Given the description of an element on the screen output the (x, y) to click on. 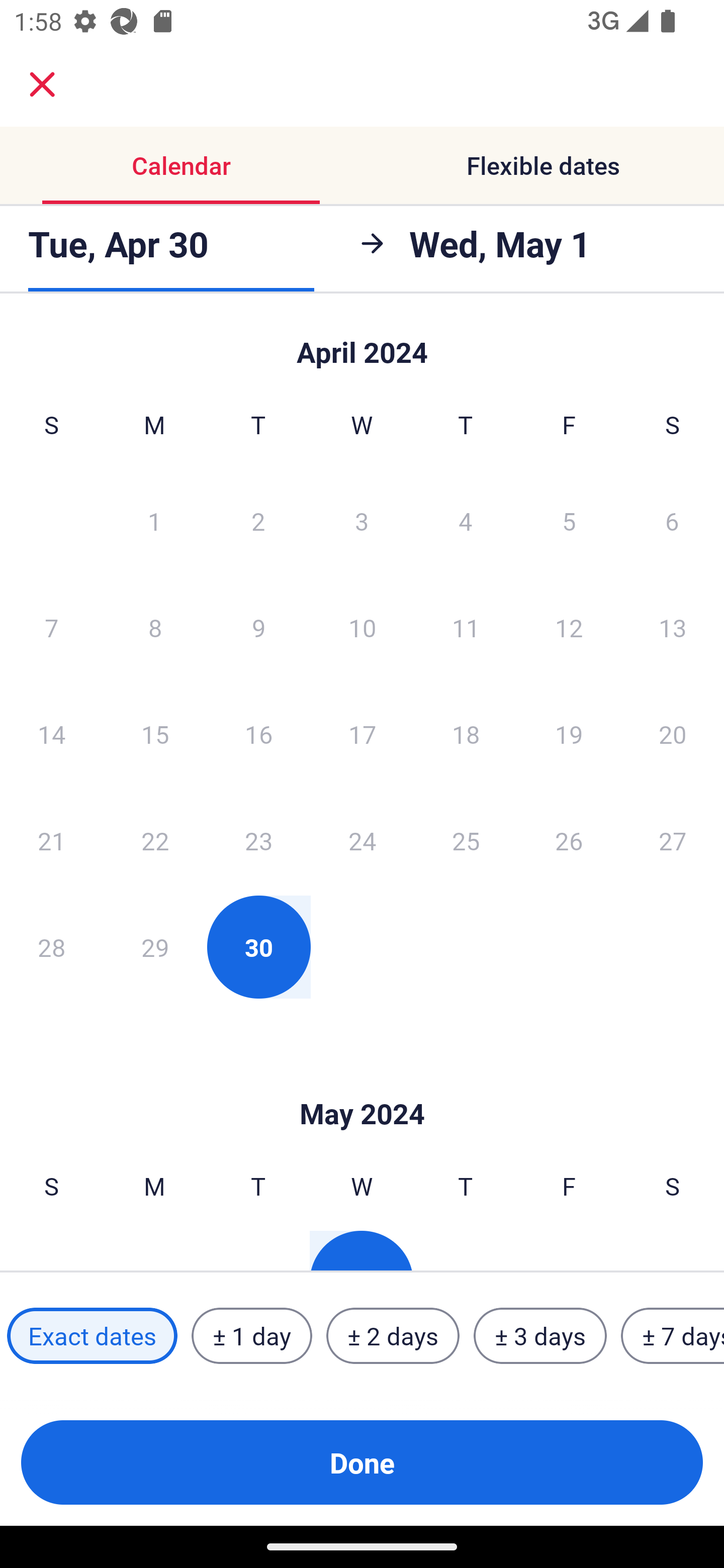
close. (42, 84)
Flexible dates (542, 164)
Skip to Done (362, 343)
1 Monday, April 1, 2024 (154, 520)
2 Tuesday, April 2, 2024 (257, 520)
3 Wednesday, April 3, 2024 (361, 520)
4 Thursday, April 4, 2024 (465, 520)
5 Friday, April 5, 2024 (568, 520)
6 Saturday, April 6, 2024 (672, 520)
7 Sunday, April 7, 2024 (51, 626)
8 Monday, April 8, 2024 (155, 626)
9 Tuesday, April 9, 2024 (258, 626)
10 Wednesday, April 10, 2024 (362, 626)
11 Thursday, April 11, 2024 (465, 626)
12 Friday, April 12, 2024 (569, 626)
13 Saturday, April 13, 2024 (672, 626)
14 Sunday, April 14, 2024 (51, 733)
15 Monday, April 15, 2024 (155, 733)
16 Tuesday, April 16, 2024 (258, 733)
17 Wednesday, April 17, 2024 (362, 733)
18 Thursday, April 18, 2024 (465, 733)
19 Friday, April 19, 2024 (569, 733)
20 Saturday, April 20, 2024 (672, 733)
21 Sunday, April 21, 2024 (51, 840)
22 Monday, April 22, 2024 (155, 840)
23 Tuesday, April 23, 2024 (258, 840)
24 Wednesday, April 24, 2024 (362, 840)
25 Thursday, April 25, 2024 (465, 840)
26 Friday, April 26, 2024 (569, 840)
27 Saturday, April 27, 2024 (672, 840)
28 Sunday, April 28, 2024 (51, 946)
29 Monday, April 29, 2024 (155, 946)
Skip to Done (362, 1083)
Exact dates (92, 1335)
± 1 day (251, 1335)
± 2 days (392, 1335)
± 3 days (539, 1335)
± 7 days (672, 1335)
Done (361, 1462)
